Given the description of an element on the screen output the (x, y) to click on. 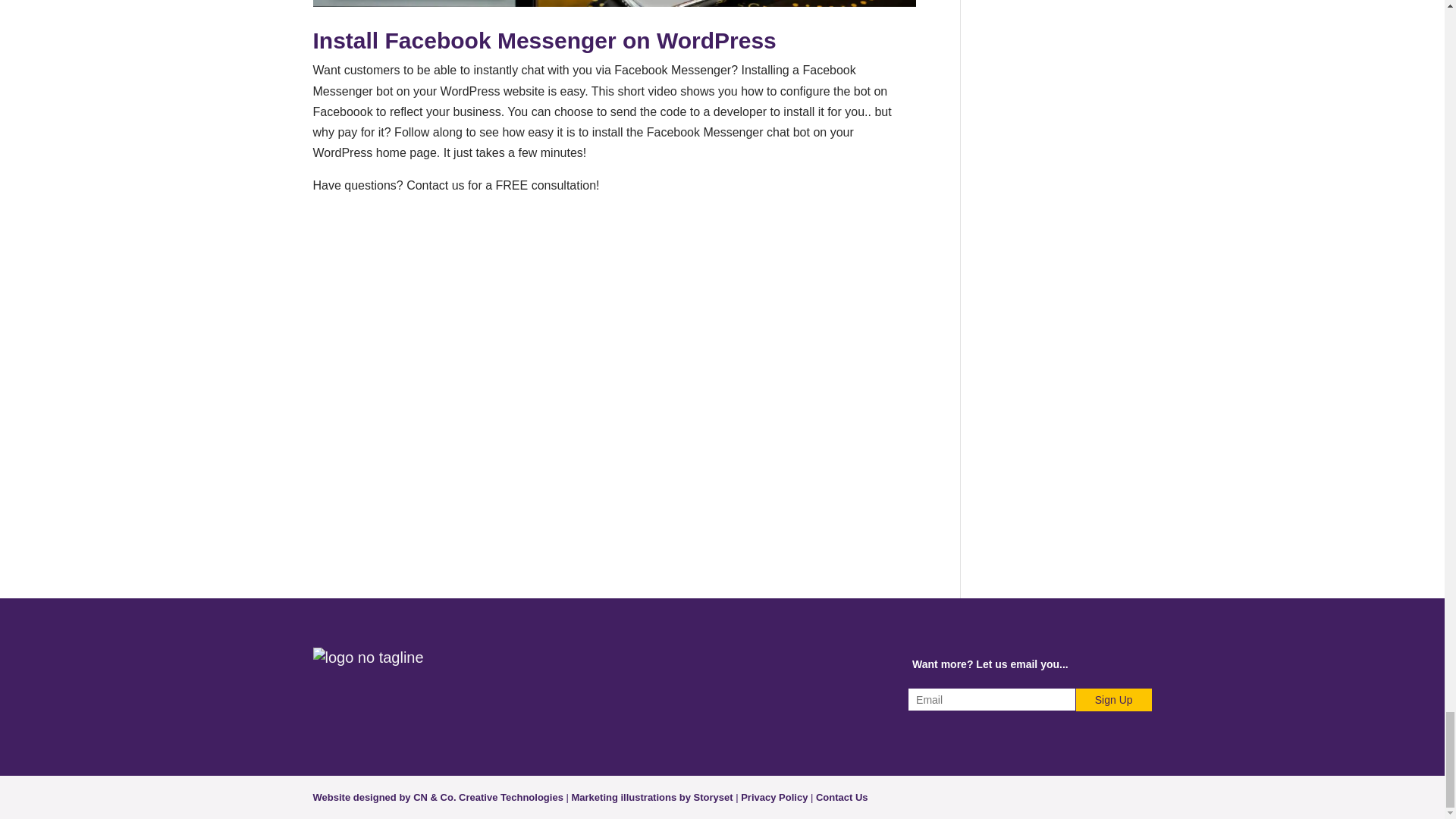
Sign Up (1113, 699)
